Given the description of an element on the screen output the (x, y) to click on. 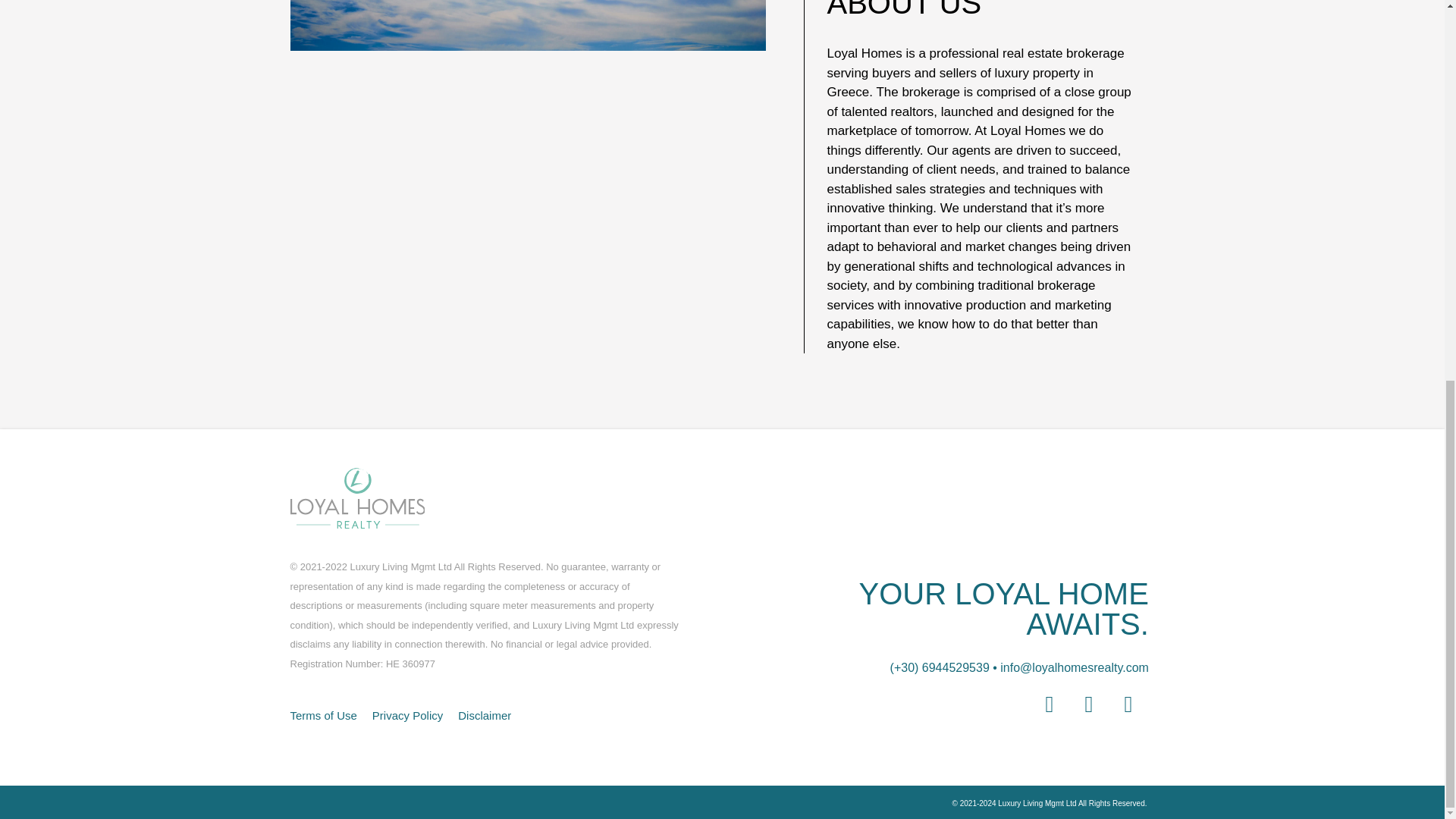
Privacy Policy (407, 715)
Disclaimer (484, 715)
Terms of Use (322, 715)
